Given the description of an element on the screen output the (x, y) to click on. 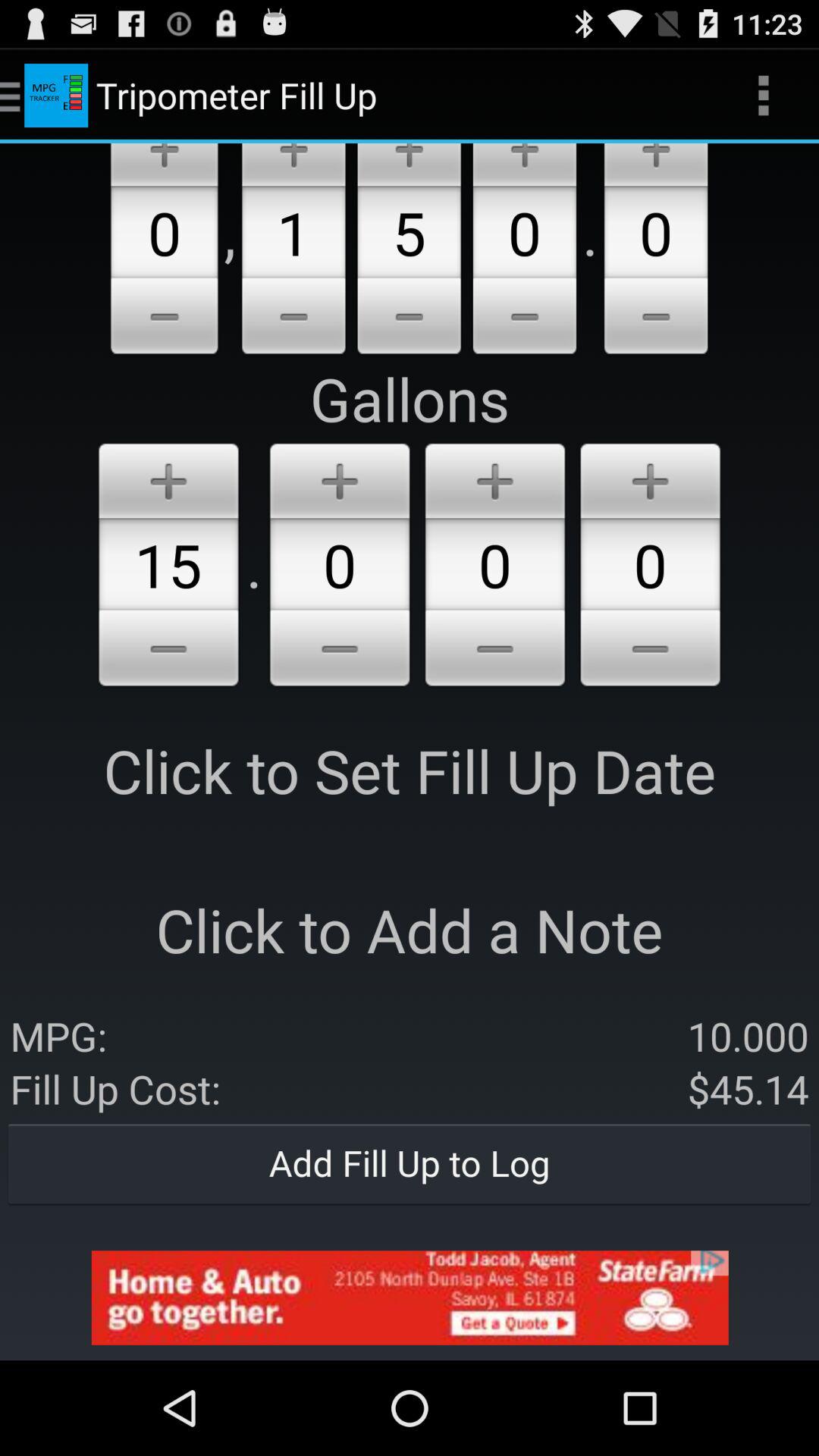
select minus (164, 318)
